Given the description of an element on the screen output the (x, y) to click on. 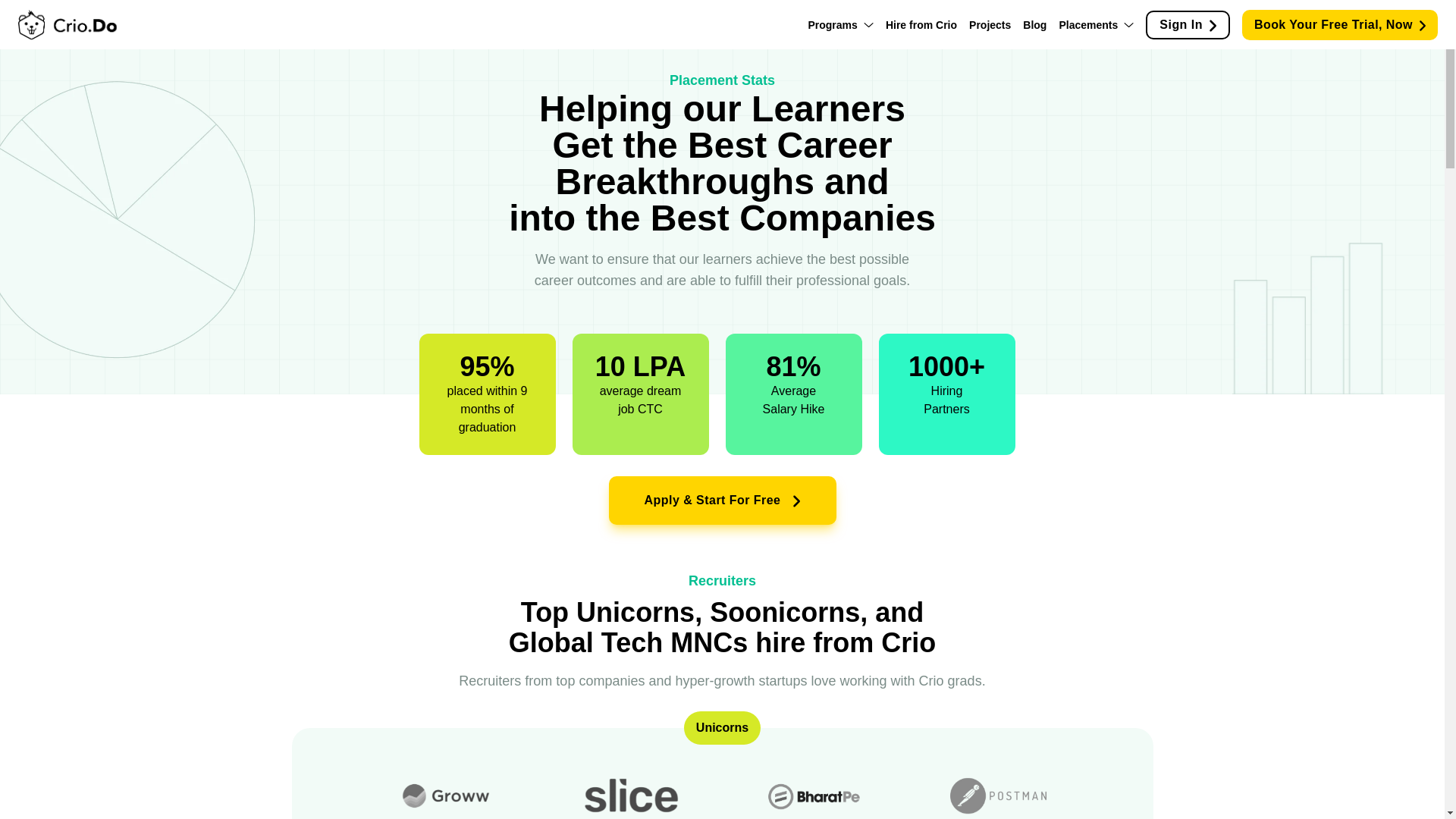
Book Your Free Trial, Now (1339, 24)
Sign In (1187, 24)
Projects (989, 23)
Hire from Crio (920, 23)
Blog (1034, 23)
